Given the description of an element on the screen output the (x, y) to click on. 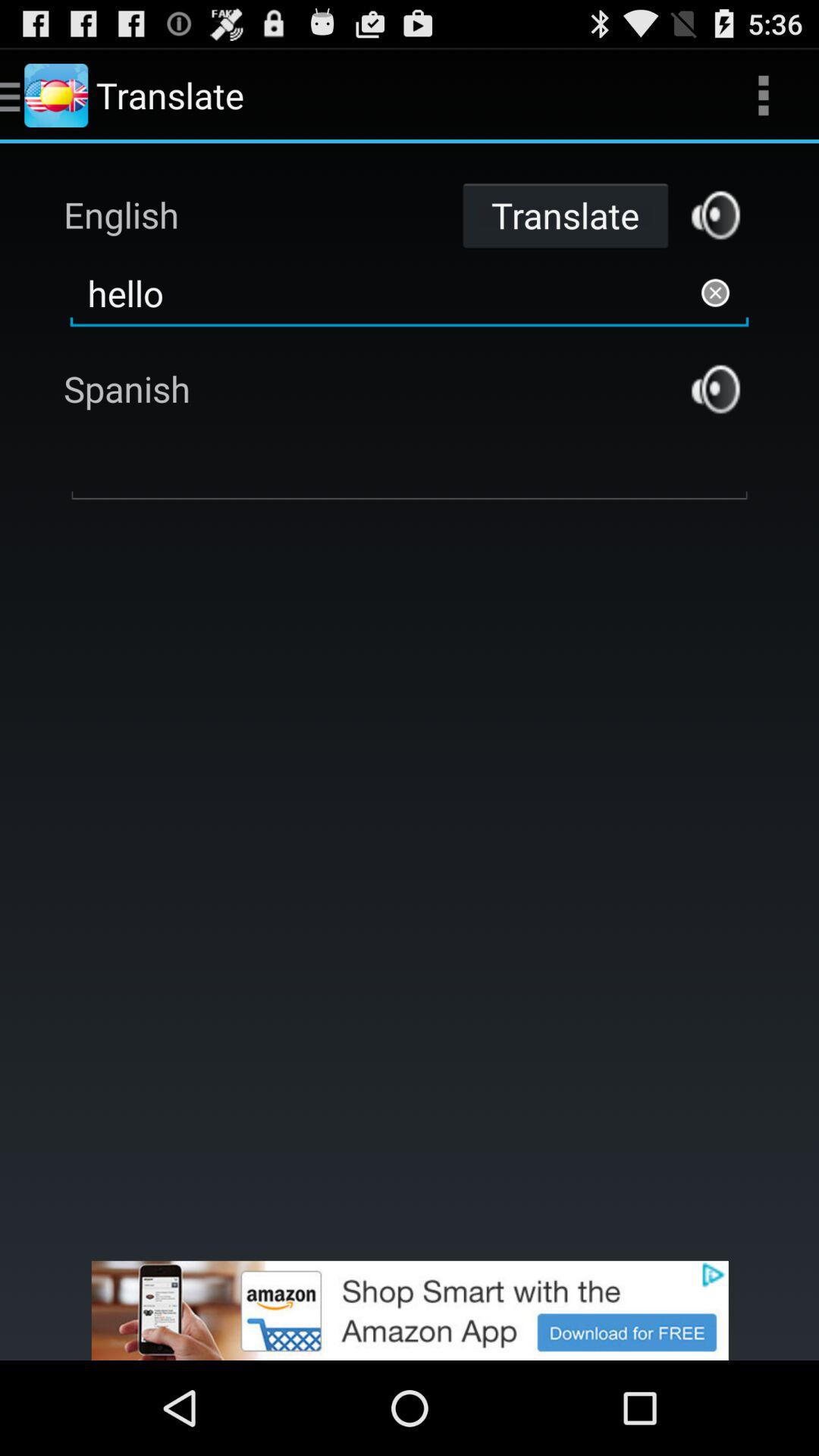
open advertisement (409, 1310)
